Given the description of an element on the screen output the (x, y) to click on. 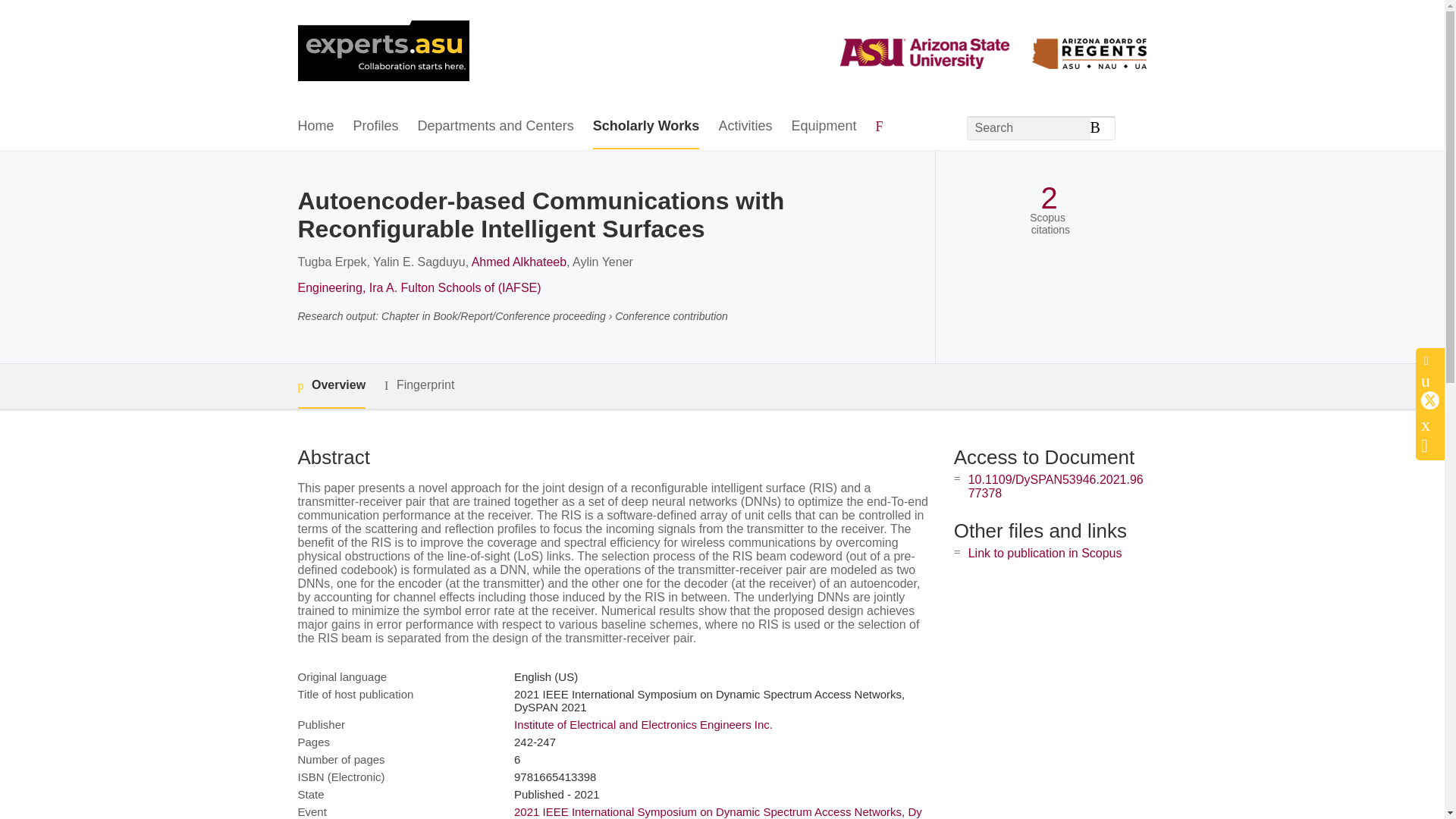
Profiles (375, 126)
Departments and Centers (495, 126)
Equipment (823, 126)
Link to publication in Scopus (1045, 553)
Institute of Electrical and Electronics Engineers Inc. (643, 724)
Scholarly Works (646, 126)
Arizona State University Home (382, 52)
Ahmed Alkhateeb (518, 261)
Activities (744, 126)
